Given the description of an element on the screen output the (x, y) to click on. 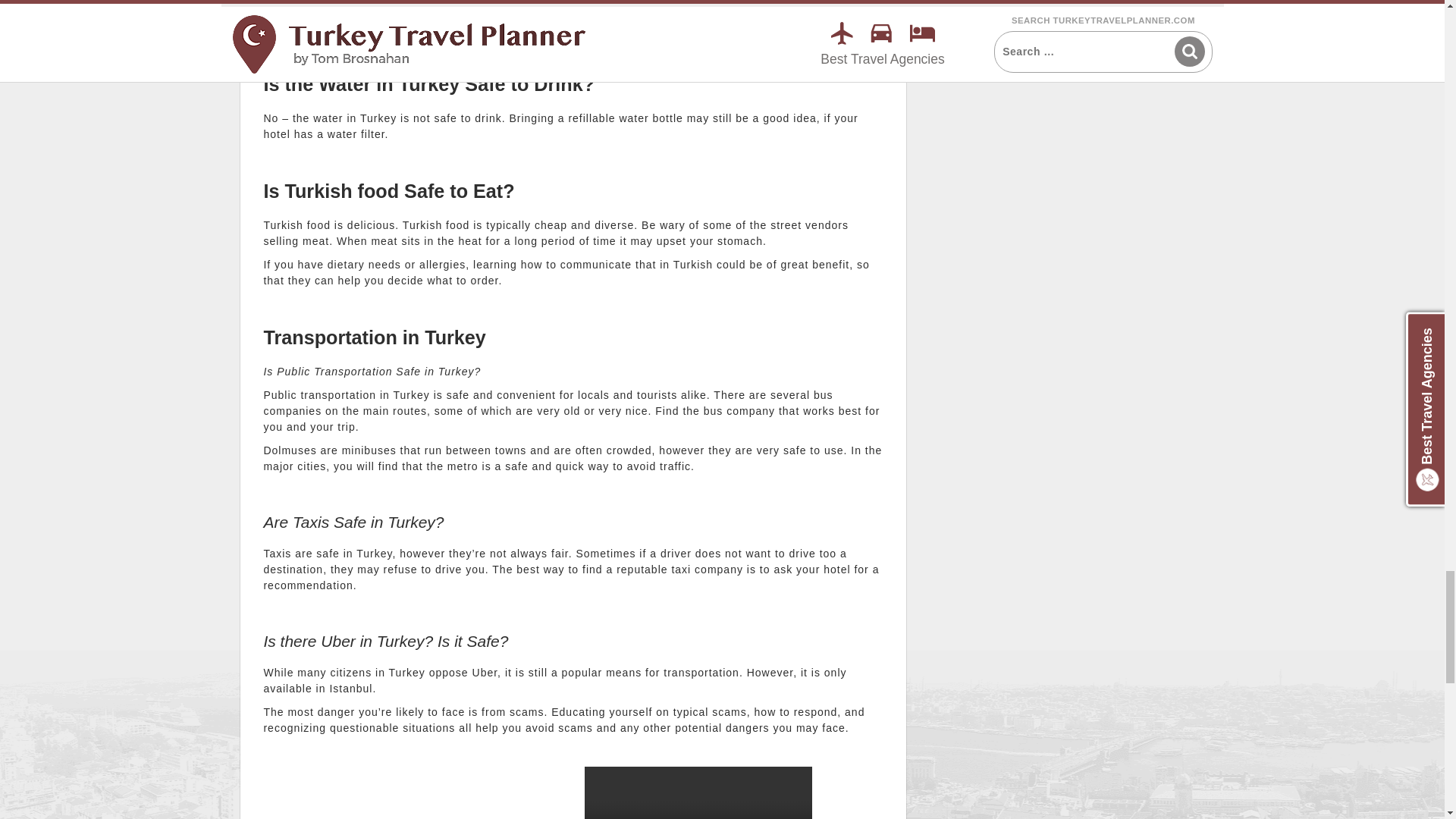
top 5 wineries to visit in Turkey (412, 792)
